Given the description of an element on the screen output the (x, y) to click on. 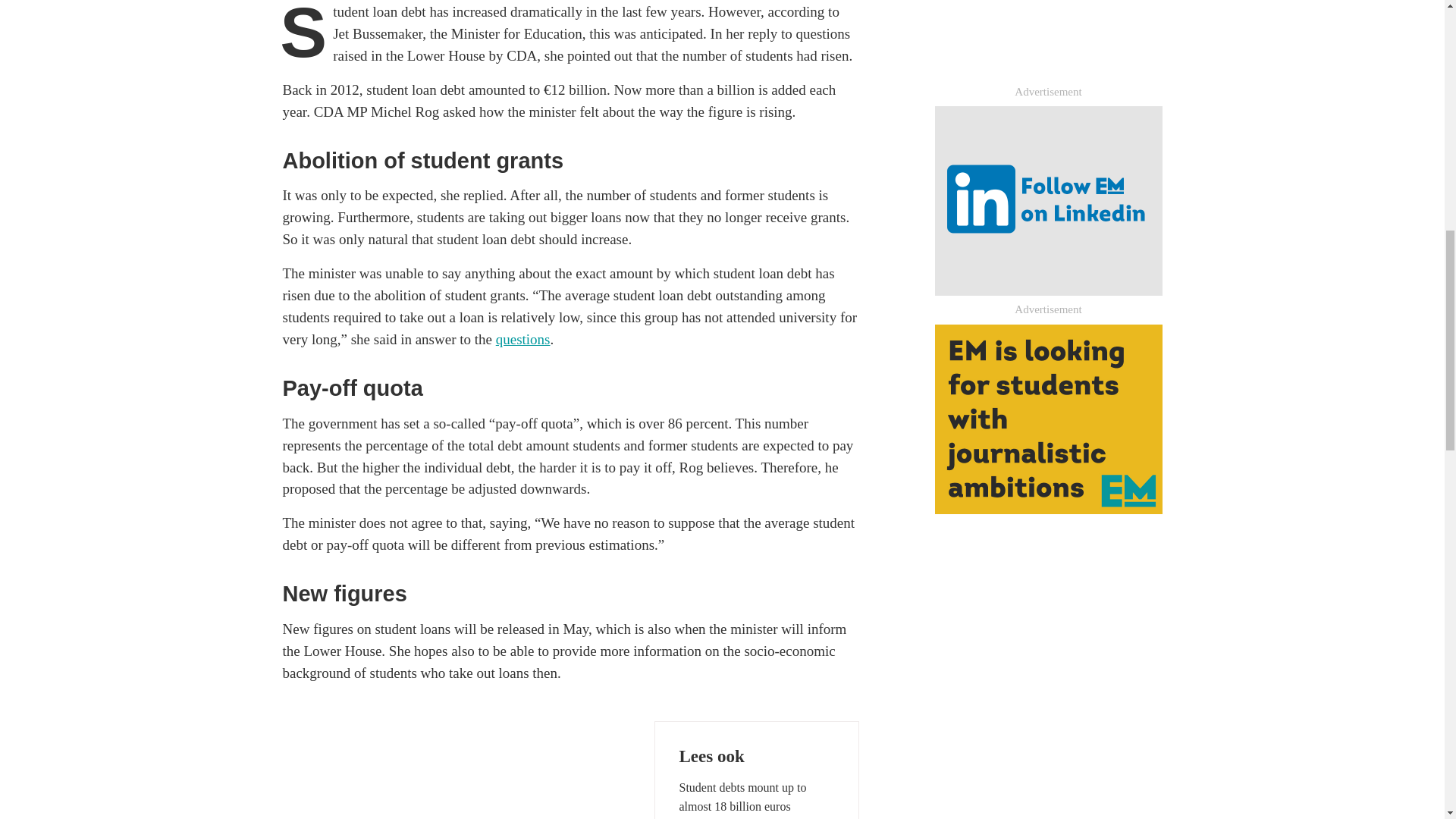
Student debts mount up to almost 18 billion euros (756, 796)
questions (523, 339)
